Given the description of an element on the screen output the (x, y) to click on. 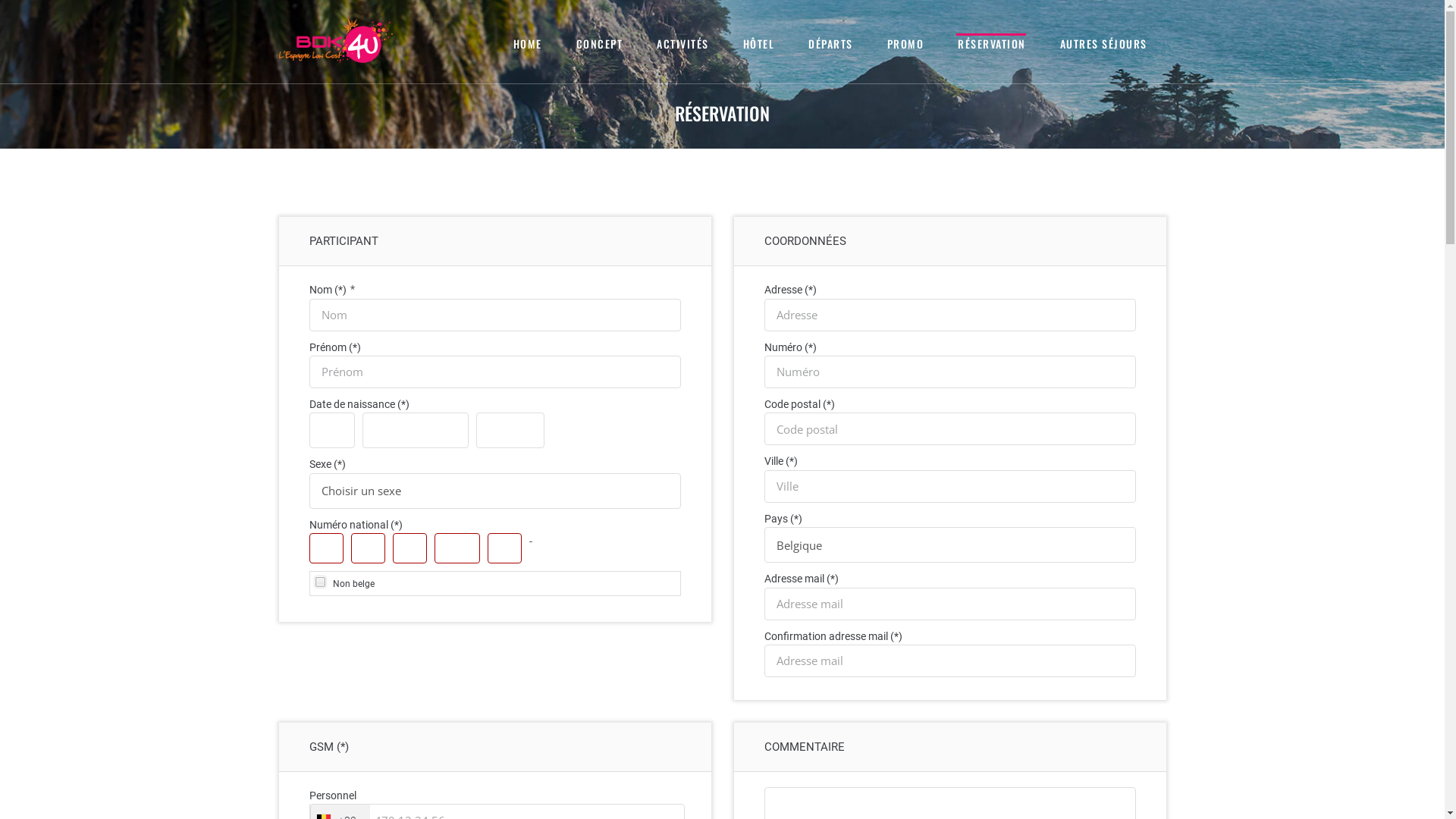
CONCEPT Element type: text (598, 42)
PROMO Element type: text (904, 42)
HOME Element type: text (526, 42)
